Given the description of an element on the screen output the (x, y) to click on. 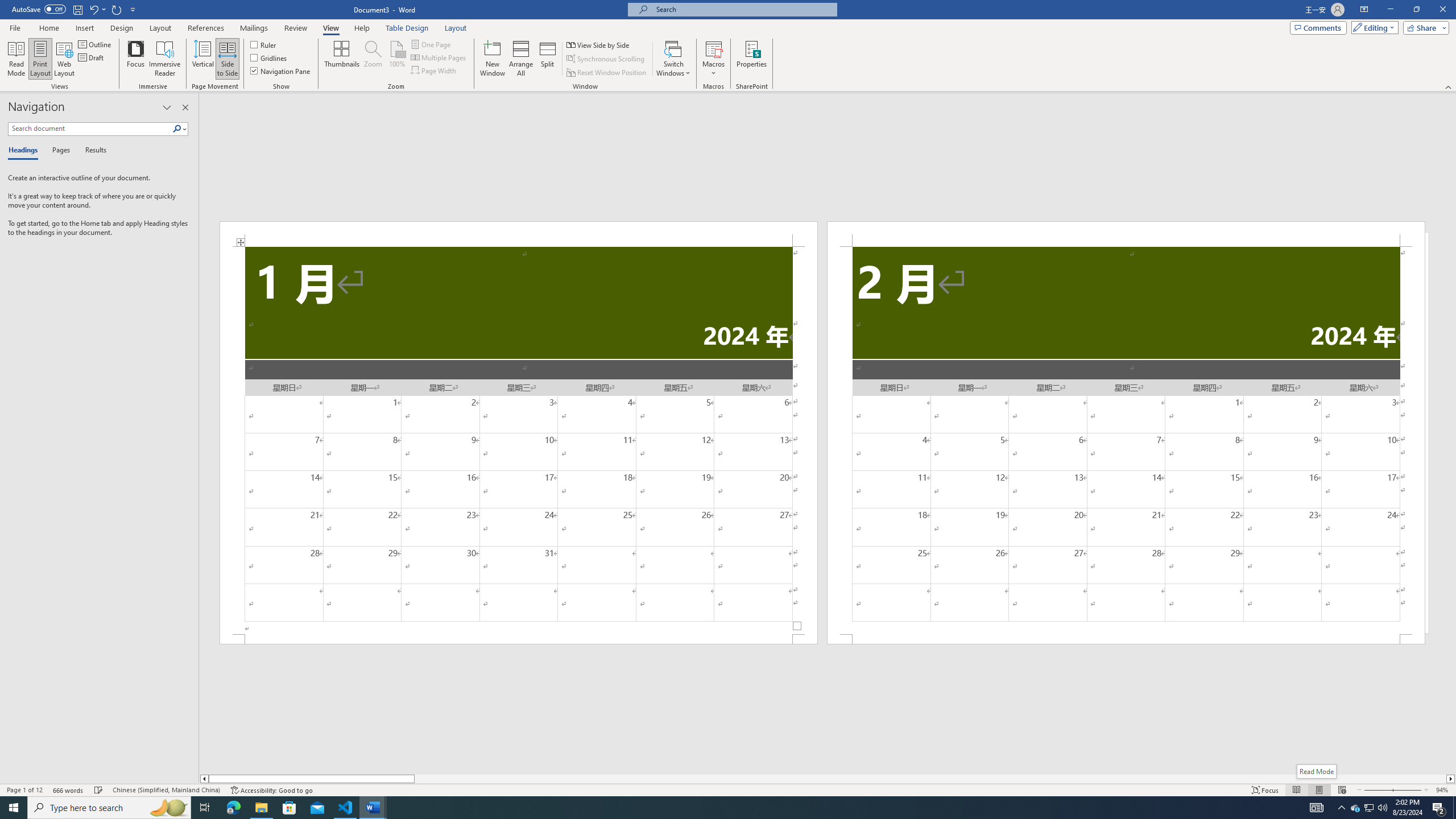
Synchronous Scrolling (605, 58)
Reset Window Position (606, 72)
Page Number Page 1 of 12 (24, 790)
Pages (59, 150)
Gridlines (269, 56)
Column right (1450, 778)
Accessibility Checker Accessibility: Good to go (271, 790)
Switch Windows (673, 58)
Outline (95, 44)
Vertical (202, 58)
